Given the description of an element on the screen output the (x, y) to click on. 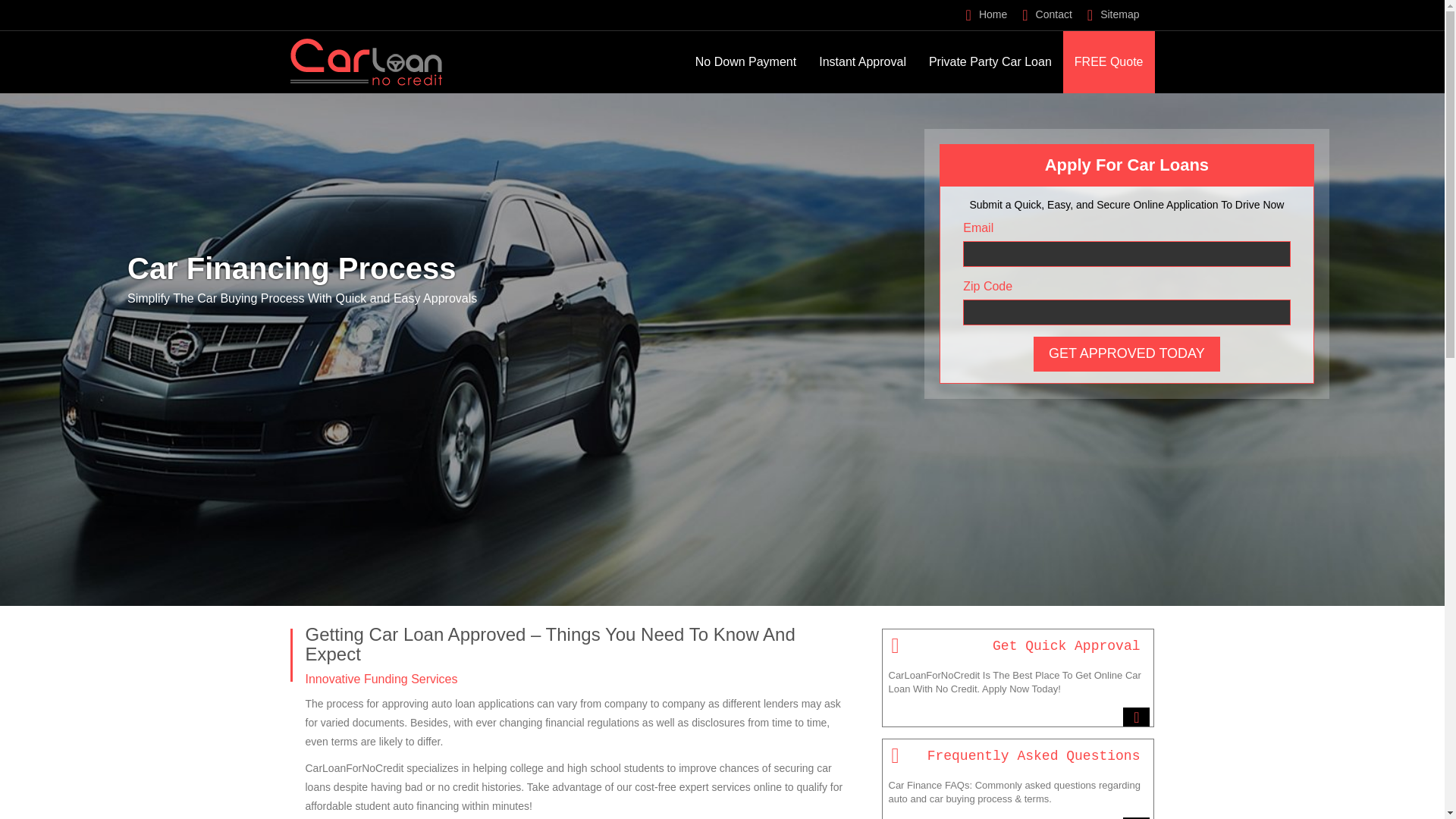
GET APPROVED TODAY (1126, 353)
FREE Quote (1108, 62)
Instant Approval (862, 62)
Contact (1046, 14)
Home (986, 14)
No Down Payment (746, 62)
Private Party Car Loan (989, 62)
Sitemap (1113, 14)
